Given the description of an element on the screen output the (x, y) to click on. 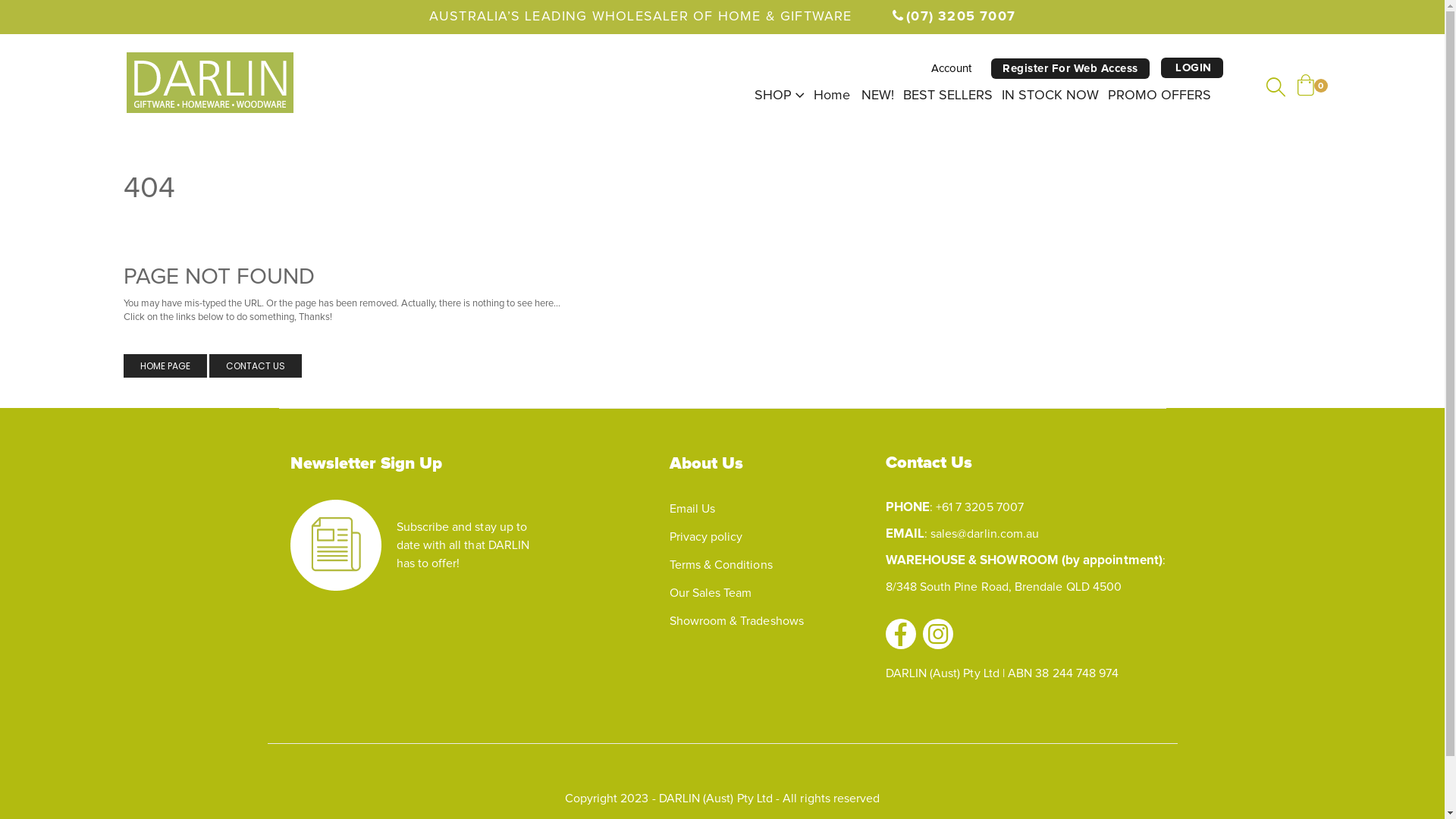
(07) 3205 7007 Element type: text (952, 16)
PROMO OFFERS Element type: text (1158, 95)
SHOP Element type: text (778, 95)
CONTACT US Element type: text (255, 365)
Terms & Conditions Element type: text (719, 564)
Email Us Element type: text (691, 508)
GIFTWARE - HOMEWARE - WOODWARE - HOSPITALITY - MADE OF Element type: hover (208, 82)
Cart
0 Element type: text (1304, 85)
+61 7 3205 7007 Element type: text (979, 507)
Showroom & Tradeshows Element type: text (735, 621)
BEST SELLERS Element type: text (946, 95)
Privacy policy Element type: text (705, 536)
LOGIN Element type: text (1191, 67)
HOME PAGE Element type: text (164, 365)
sales@darlin.com.au Element type: text (984, 533)
IN STOCK NOW Element type: text (1049, 95)
Register For Web Access Element type: text (1070, 67)
Home Element type: text (830, 95)
Account Element type: text (950, 68)
NEW! Element type: text (877, 95)
Our Sales Team Element type: text (709, 592)
